Given the description of an element on the screen output the (x, y) to click on. 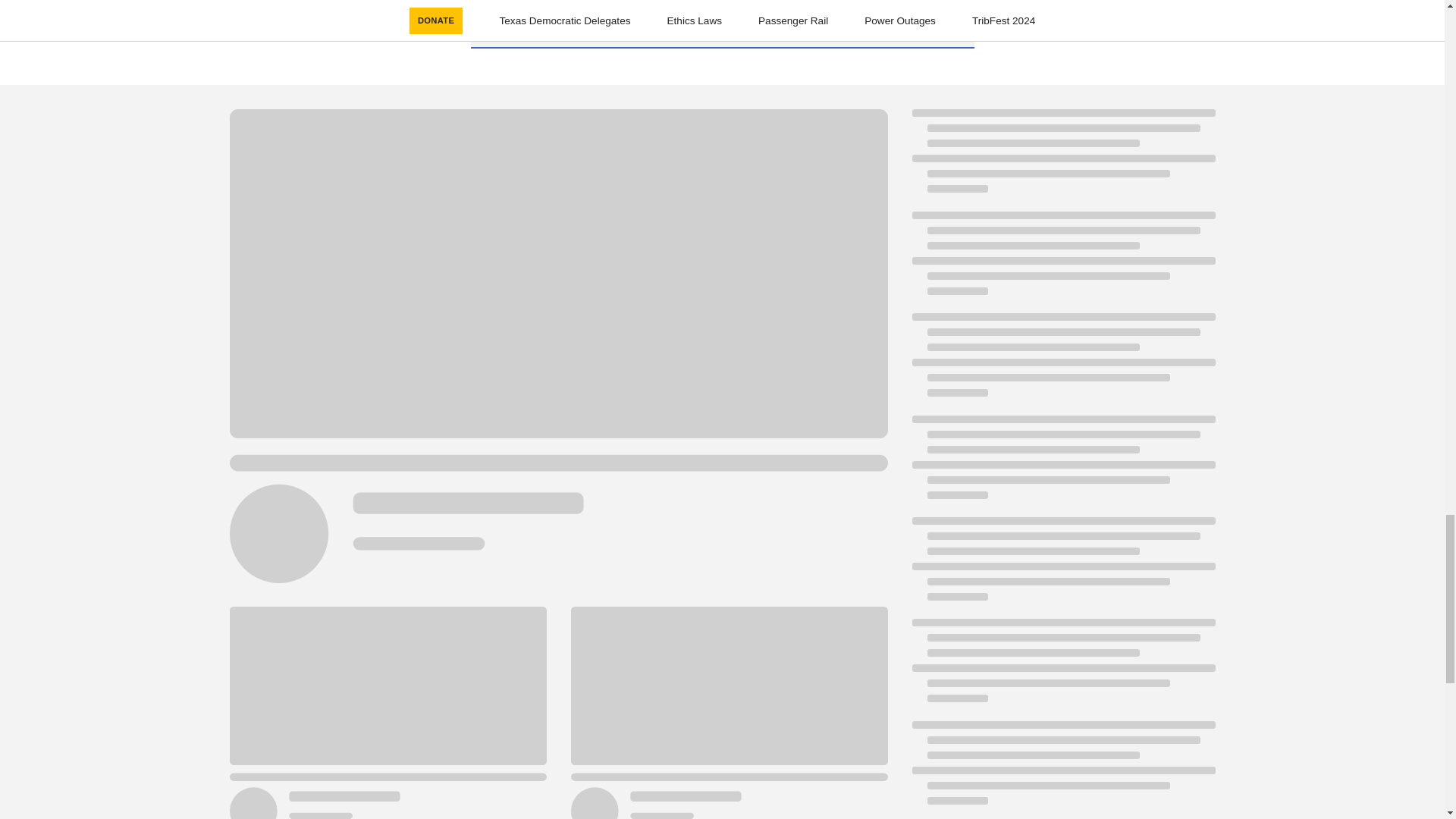
Loading indicator (1062, 464)
Loading indicator (1062, 668)
Loading indicator (1062, 158)
Loading indicator (1062, 361)
Loading indicator (1062, 770)
Loading indicator (1062, 565)
Loading indicator (1062, 260)
